Given the description of an element on the screen output the (x, y) to click on. 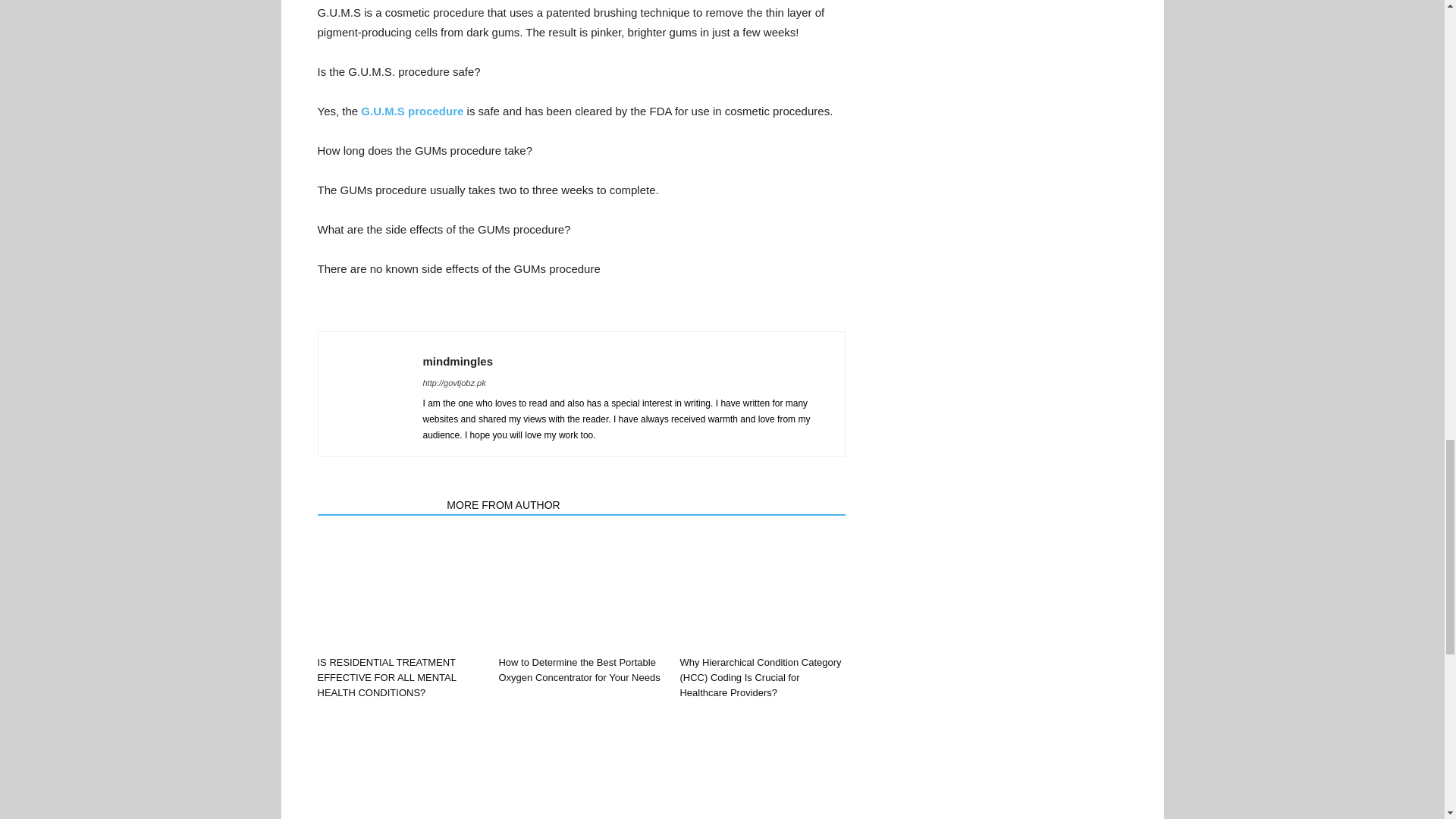
RELATED ARTICLES (377, 503)
G.U.M.S procedure (410, 110)
mindmingles (458, 360)
bottomFacebookLike (430, 318)
